Given the description of an element on the screen output the (x, y) to click on. 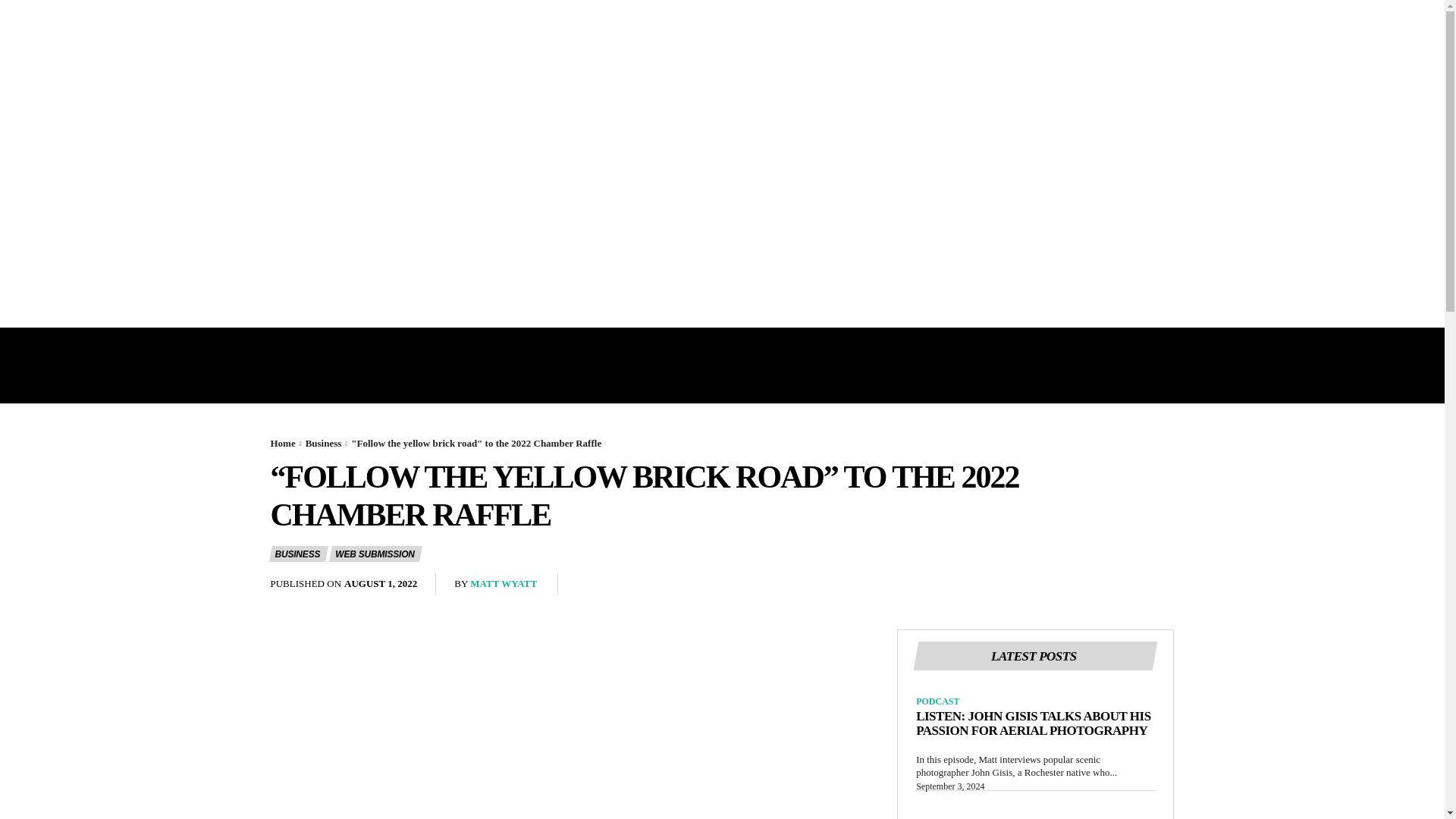
Search (722, 163)
Instagram (1115, 187)
SUBSCRIBE (357, 27)
Facebook (333, 186)
Instagram (272, 27)
Youtube (397, 27)
Subscribe (441, 27)
SEARCH (333, 186)
